Given the description of an element on the screen output the (x, y) to click on. 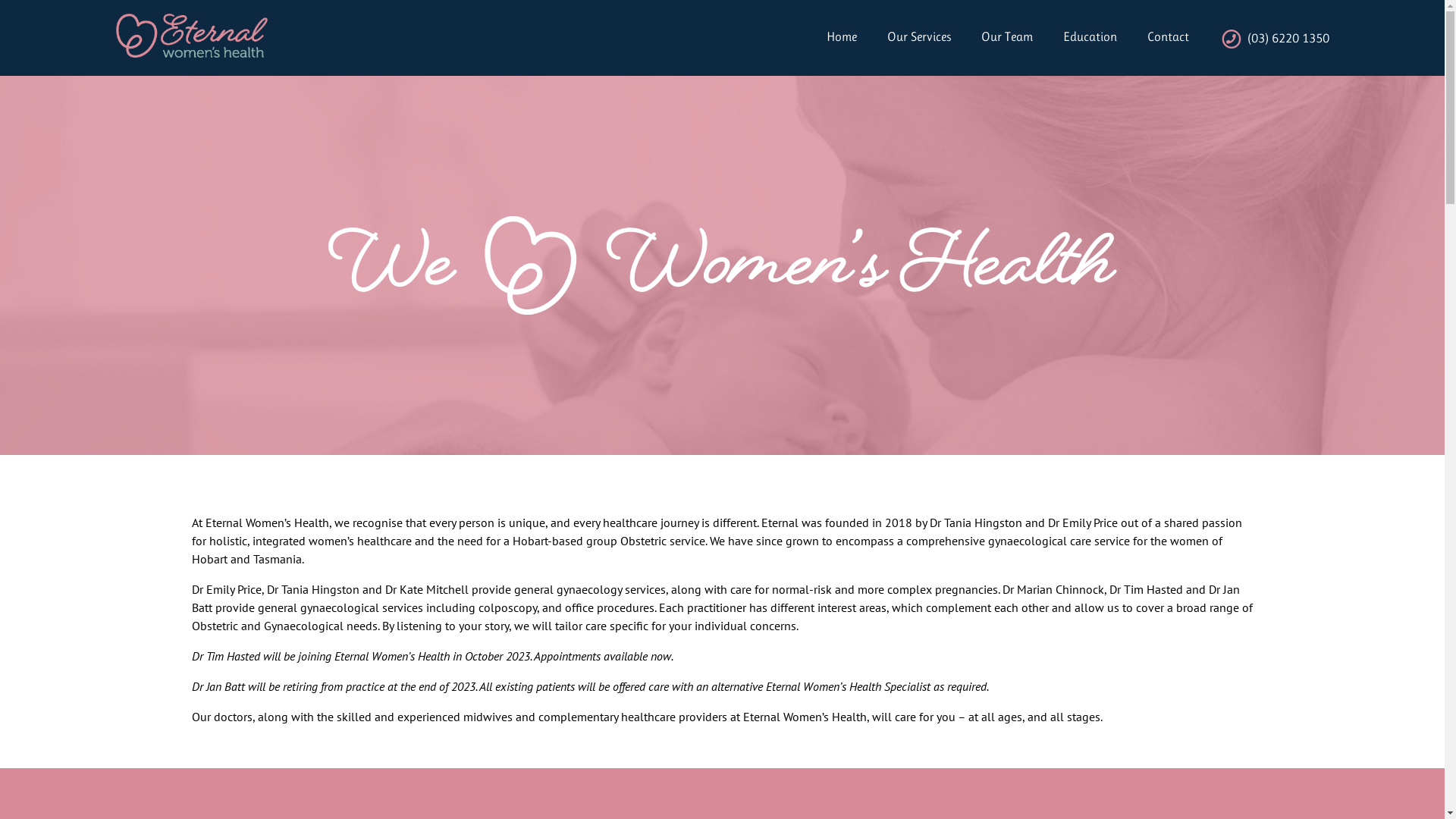
(03) 6220 1350 Element type: text (1259, 38)
Home Element type: text (826, 37)
Education Element type: text (1074, 37)
Our Team Element type: text (991, 37)
Our Services Element type: text (903, 37)
Contact Element type: text (1153, 37)
Eternal Women's Health Element type: text (211, 66)
Eternal Women's Health Element type: hover (190, 35)
